Given the description of an element on the screen output the (x, y) to click on. 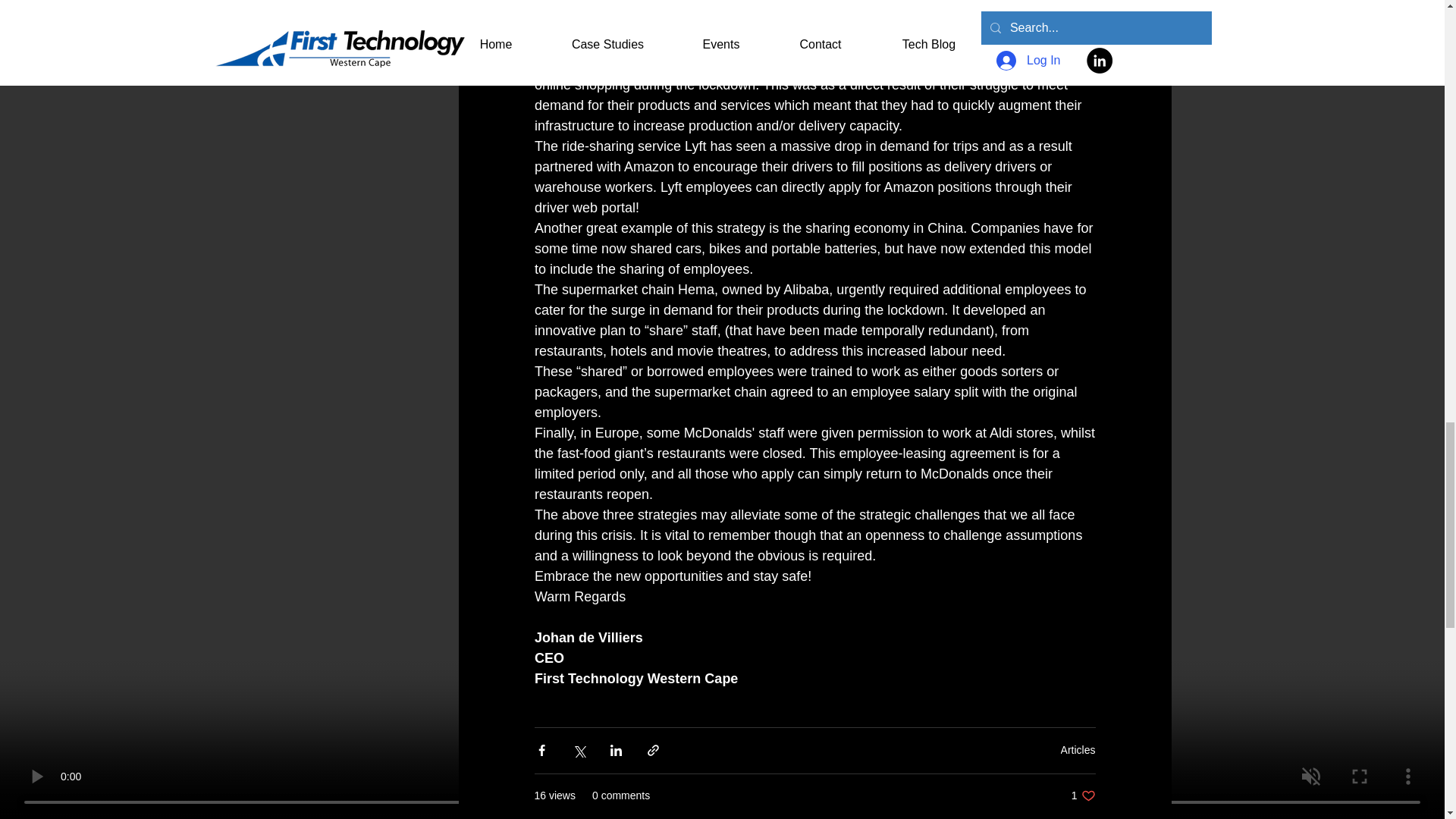
Articles (1078, 749)
